Given the description of an element on the screen output the (x, y) to click on. 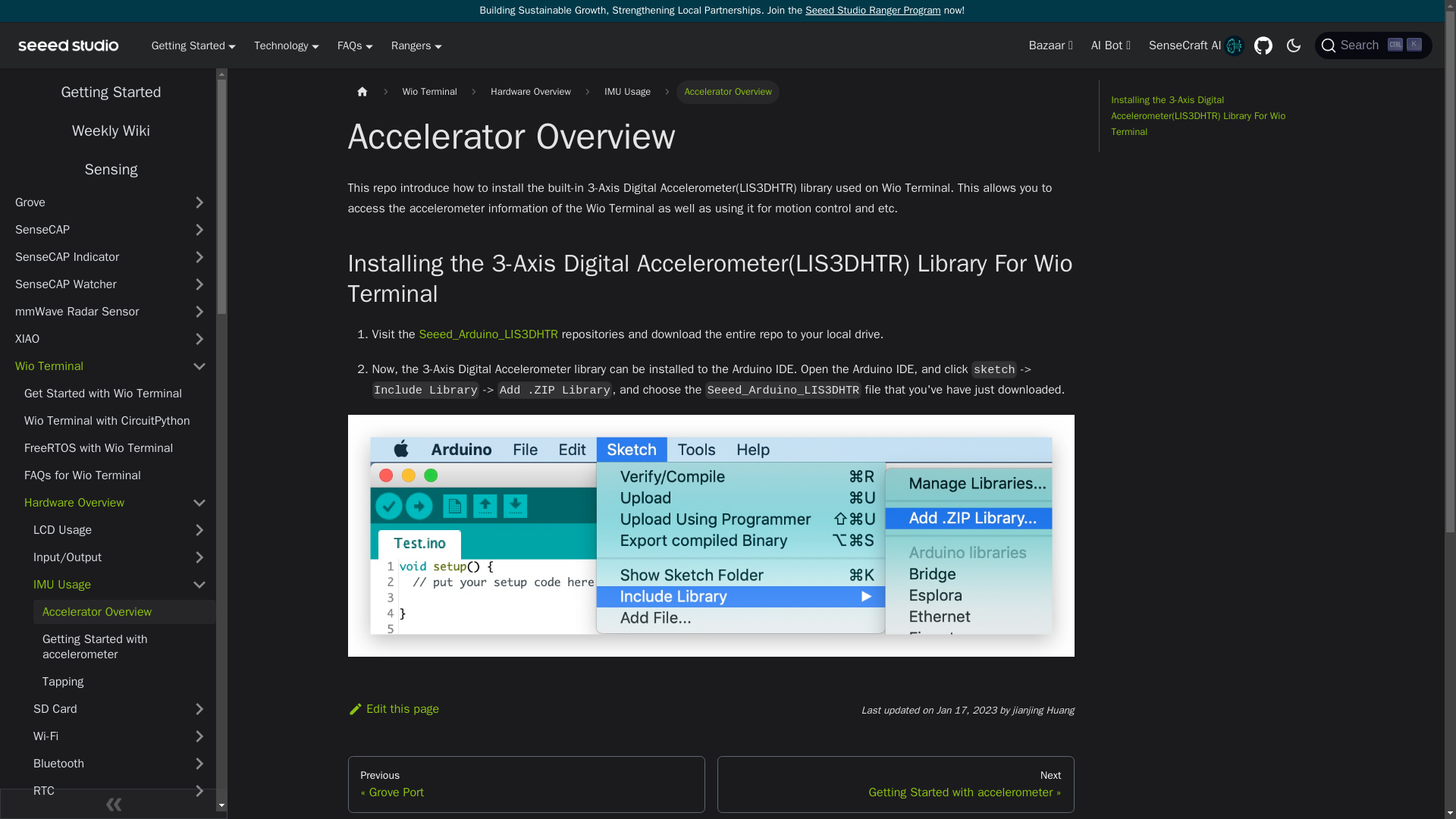
Rangers (1373, 44)
Collapse sidebar (416, 45)
SenseCraft AI (113, 803)
FAQs (1185, 45)
Technology (354, 45)
Getting Started (285, 45)
Seeed Studio Ranger Program (193, 45)
Getting Started (872, 10)
